Given the description of an element on the screen output the (x, y) to click on. 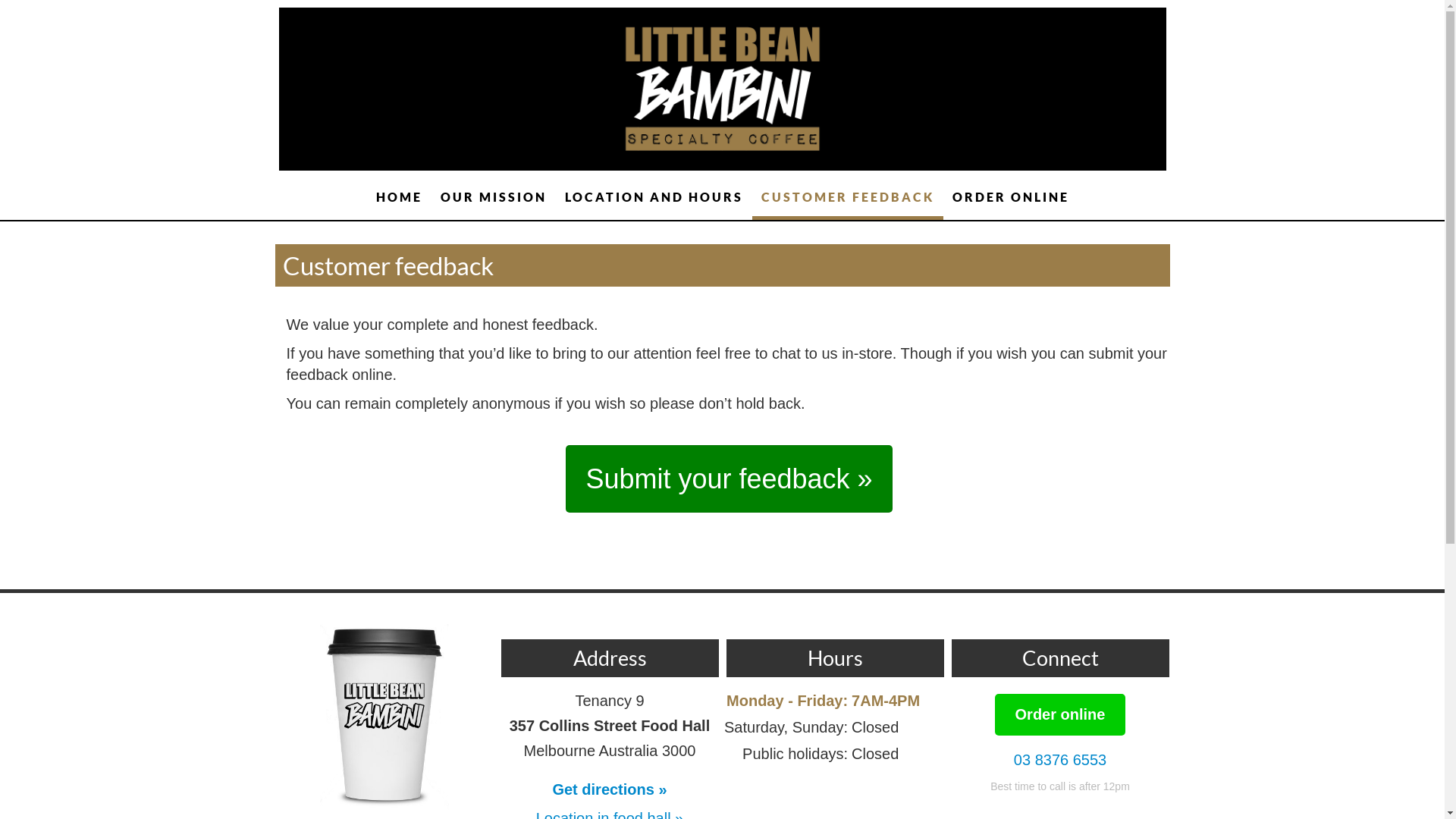
Order online Element type: text (1060, 714)
LOCATION AND HOURS Element type: text (653, 197)
OUR MISSION Element type: text (492, 197)
CUSTOMER FEEDBACK Element type: text (847, 197)
ORDER ONLINE Element type: text (1010, 197)
03 8376 6553 Element type: text (1059, 759)
HOME Element type: text (399, 197)
